Given the description of an element on the screen output the (x, y) to click on. 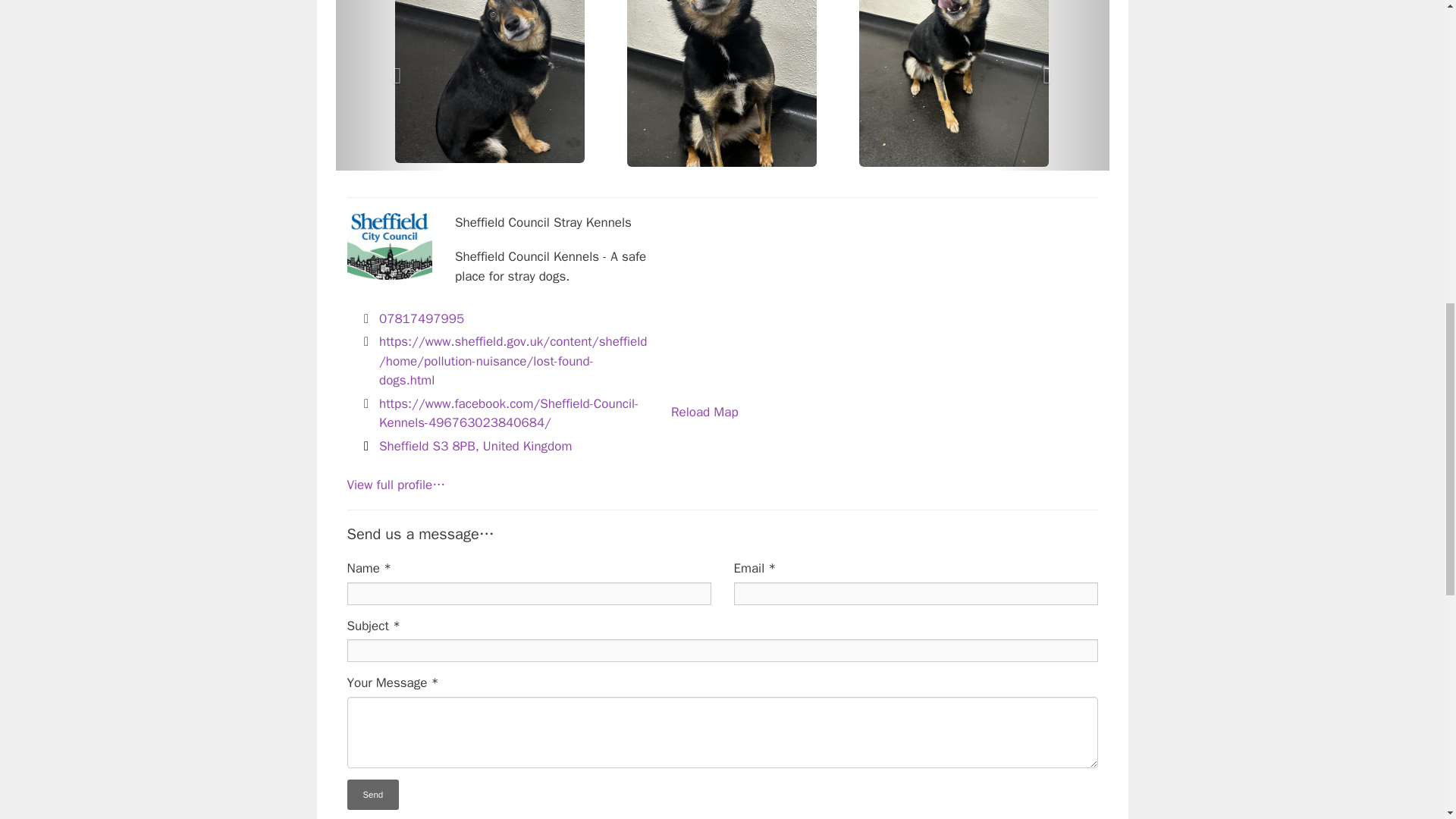
3E6BDBF6-805A-4214-BD69-B57646C03D93 (489, 81)
Send (372, 794)
04A14BCE-066D-458B-B766-B2870024A07C (953, 83)
226207ED-3312-4CD9-844A-696379B0777D (721, 83)
